Given the description of an element on the screen output the (x, y) to click on. 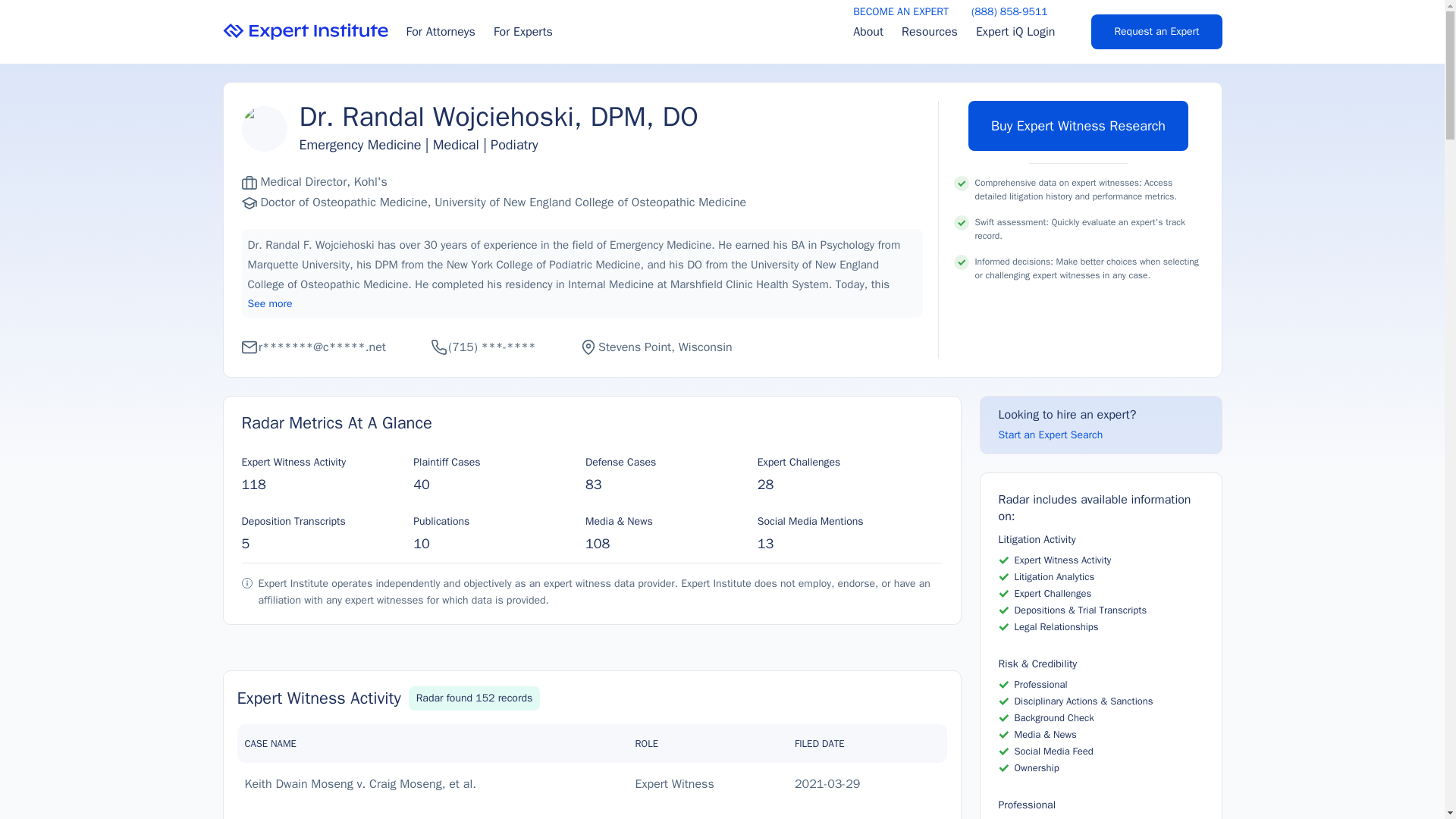
Request an Expert (1155, 31)
Start an Expert Search (1049, 435)
Podiatry (514, 144)
Emergency Medicine (359, 144)
See more (269, 303)
BECOME AN EXPERT (901, 11)
Buy Expert Witness Research (1078, 125)
Medical (455, 144)
